Given the description of an element on the screen output the (x, y) to click on. 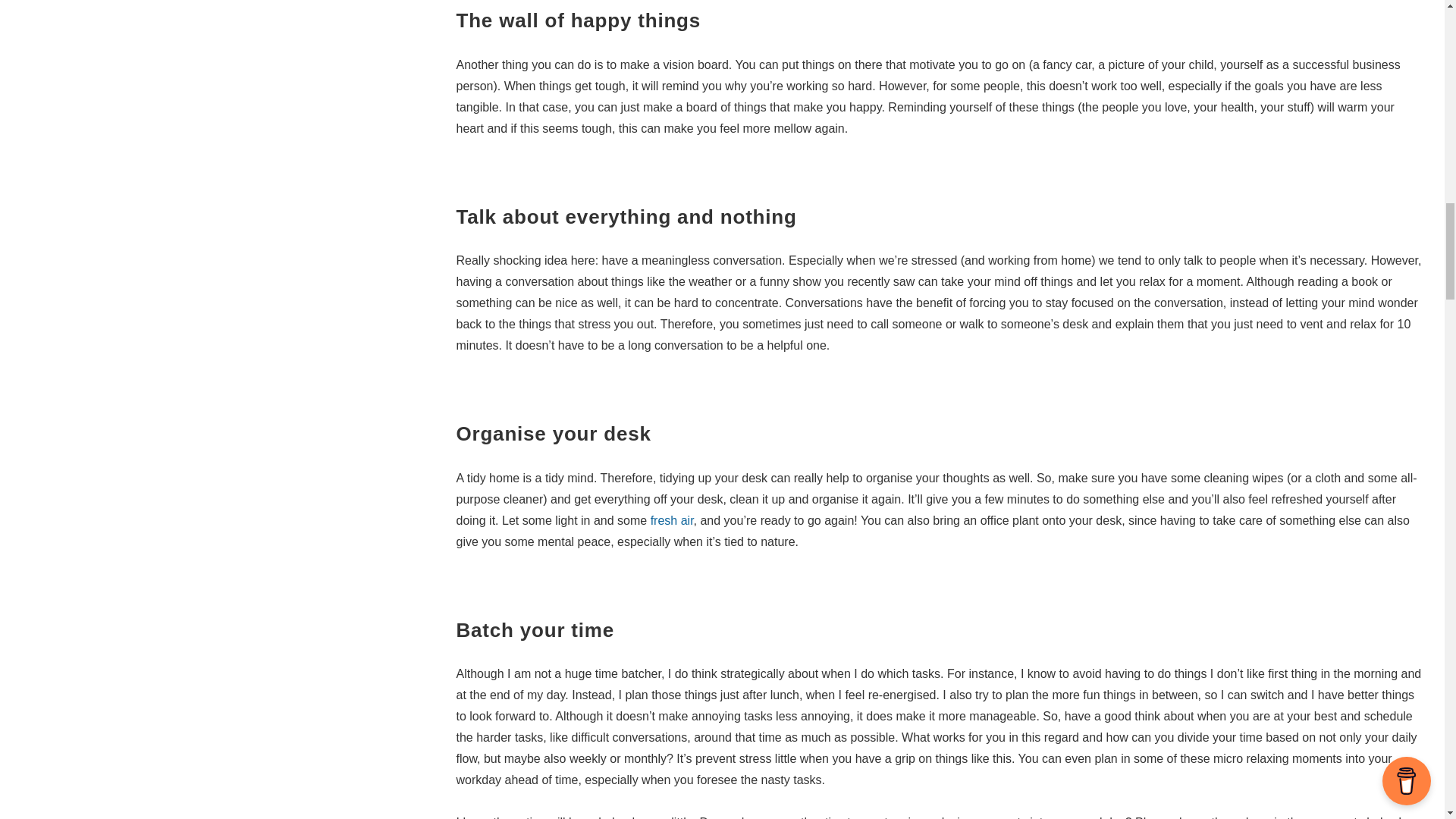
fresh air (672, 520)
